Given the description of an element on the screen output the (x, y) to click on. 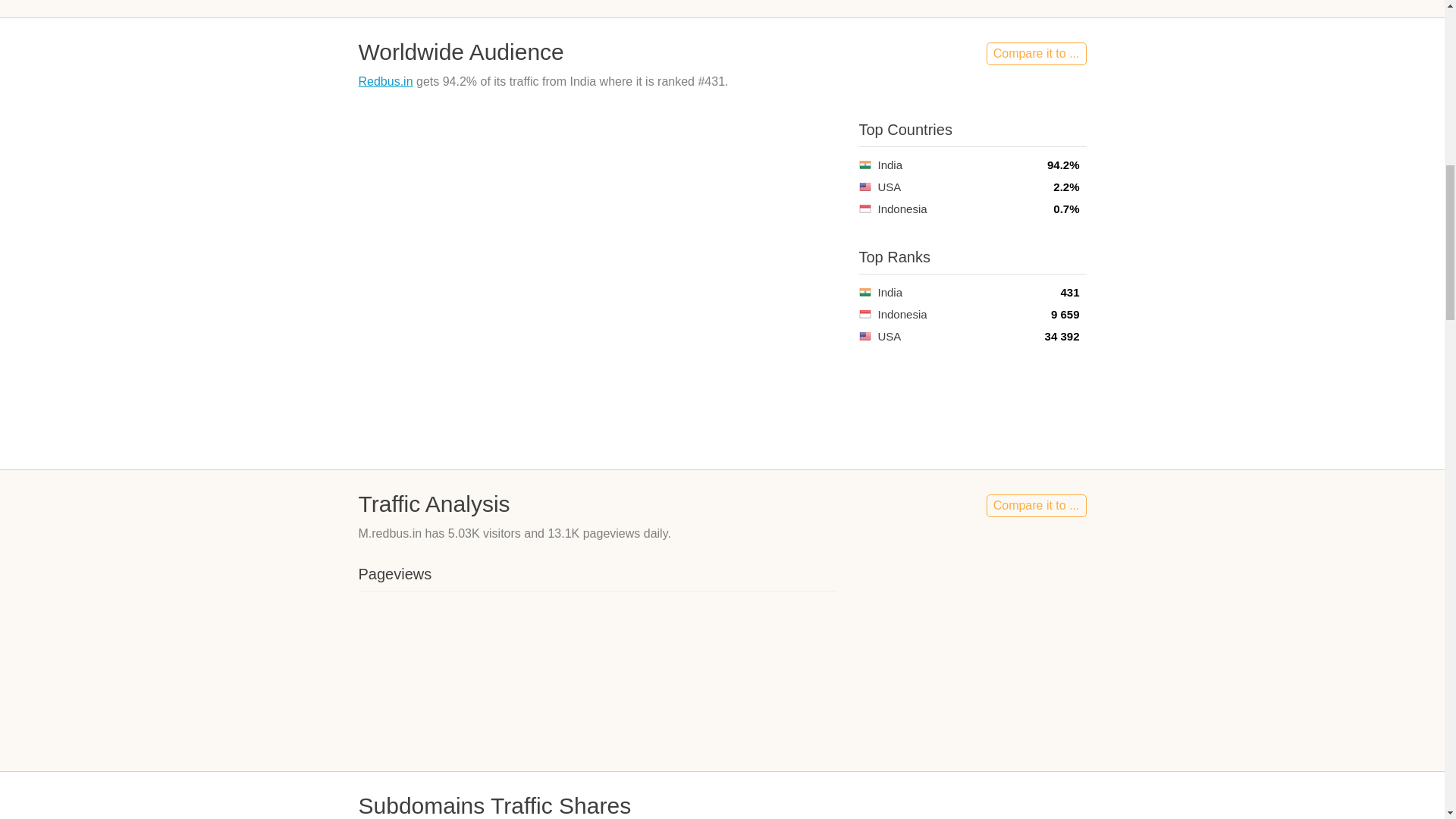
USA (864, 186)
Indonesia (864, 314)
Compare it to ... (1036, 53)
USA (864, 336)
Indonesia (864, 208)
India (864, 164)
Compare it to ... (1036, 505)
Redbus.in (385, 81)
India (864, 292)
